Given the description of an element on the screen output the (x, y) to click on. 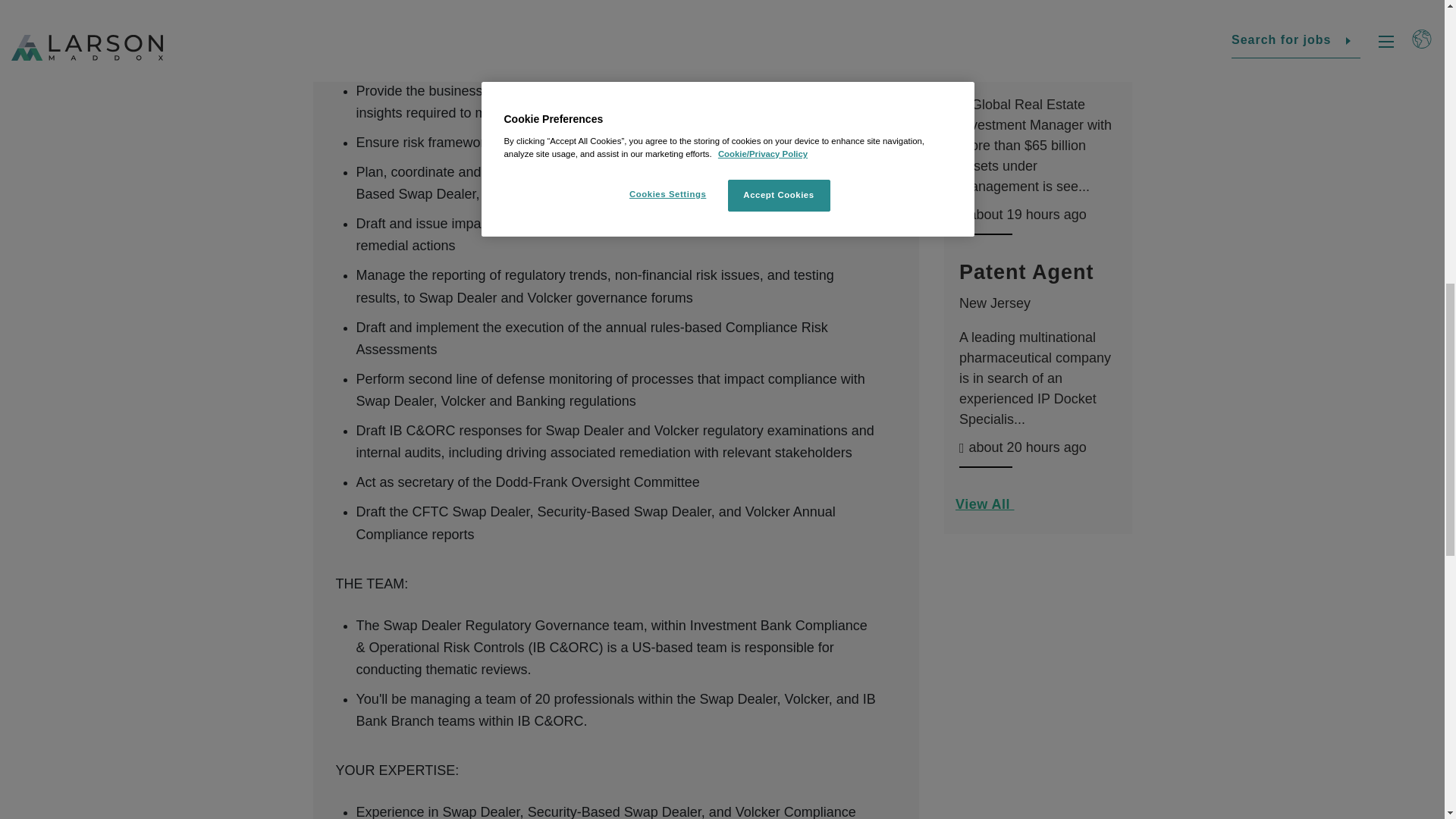
View All (1037, 509)
